Given the description of an element on the screen output the (x, y) to click on. 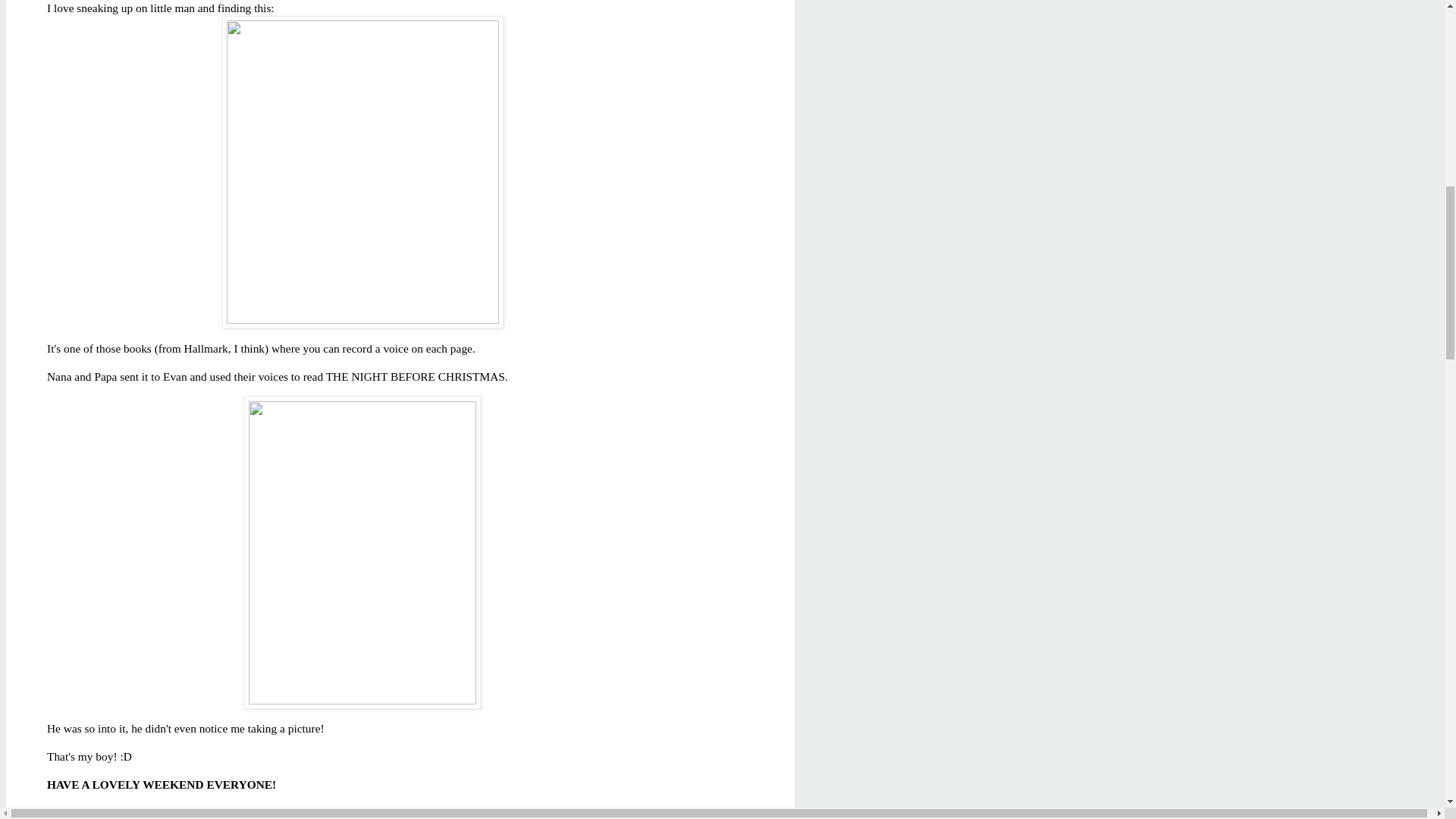
Tags-n-Stones (391, 812)
